Given the description of an element on the screen output the (x, y) to click on. 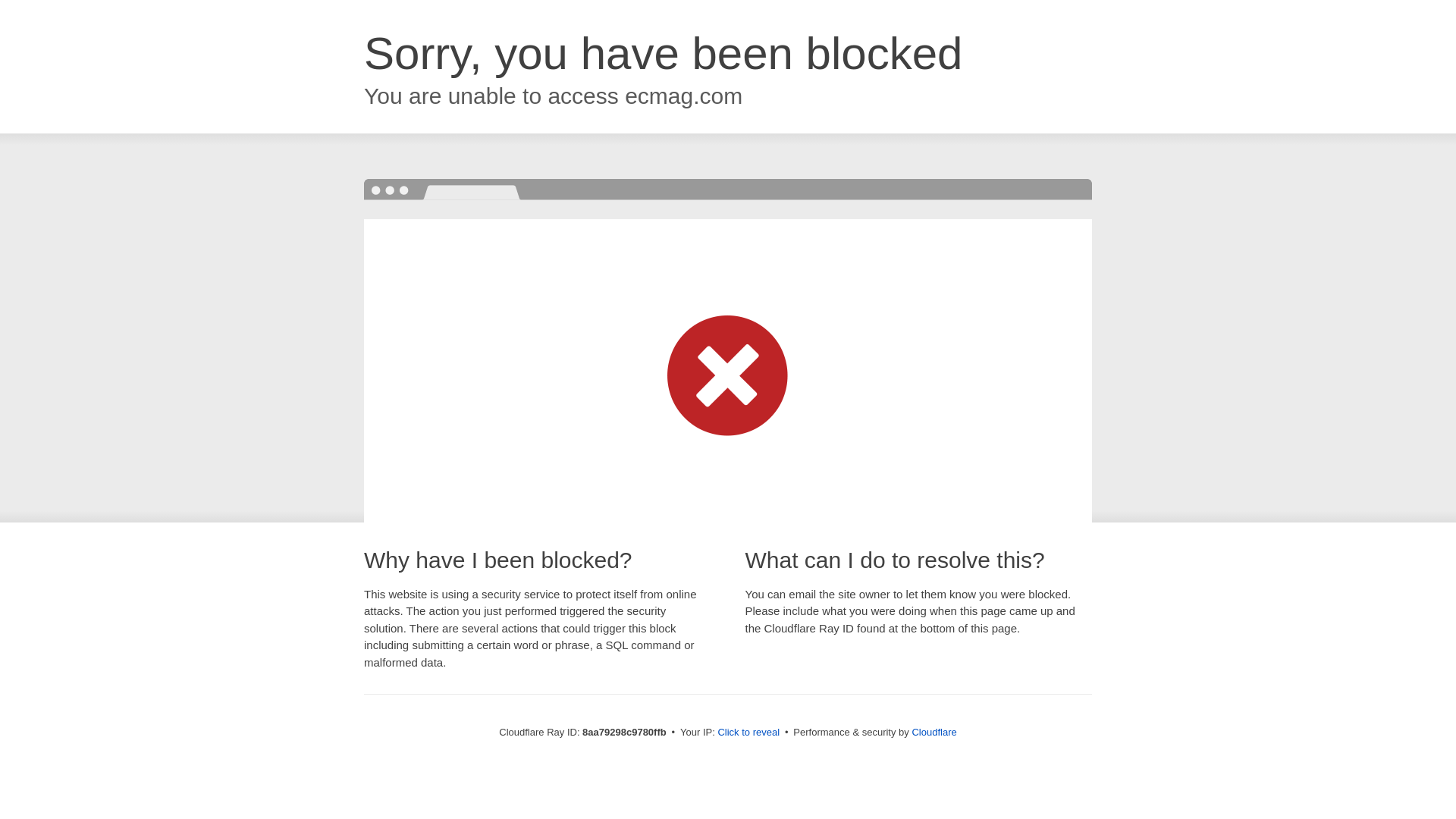
Cloudflare (933, 731)
Click to reveal (747, 732)
